Given the description of an element on the screen output the (x, y) to click on. 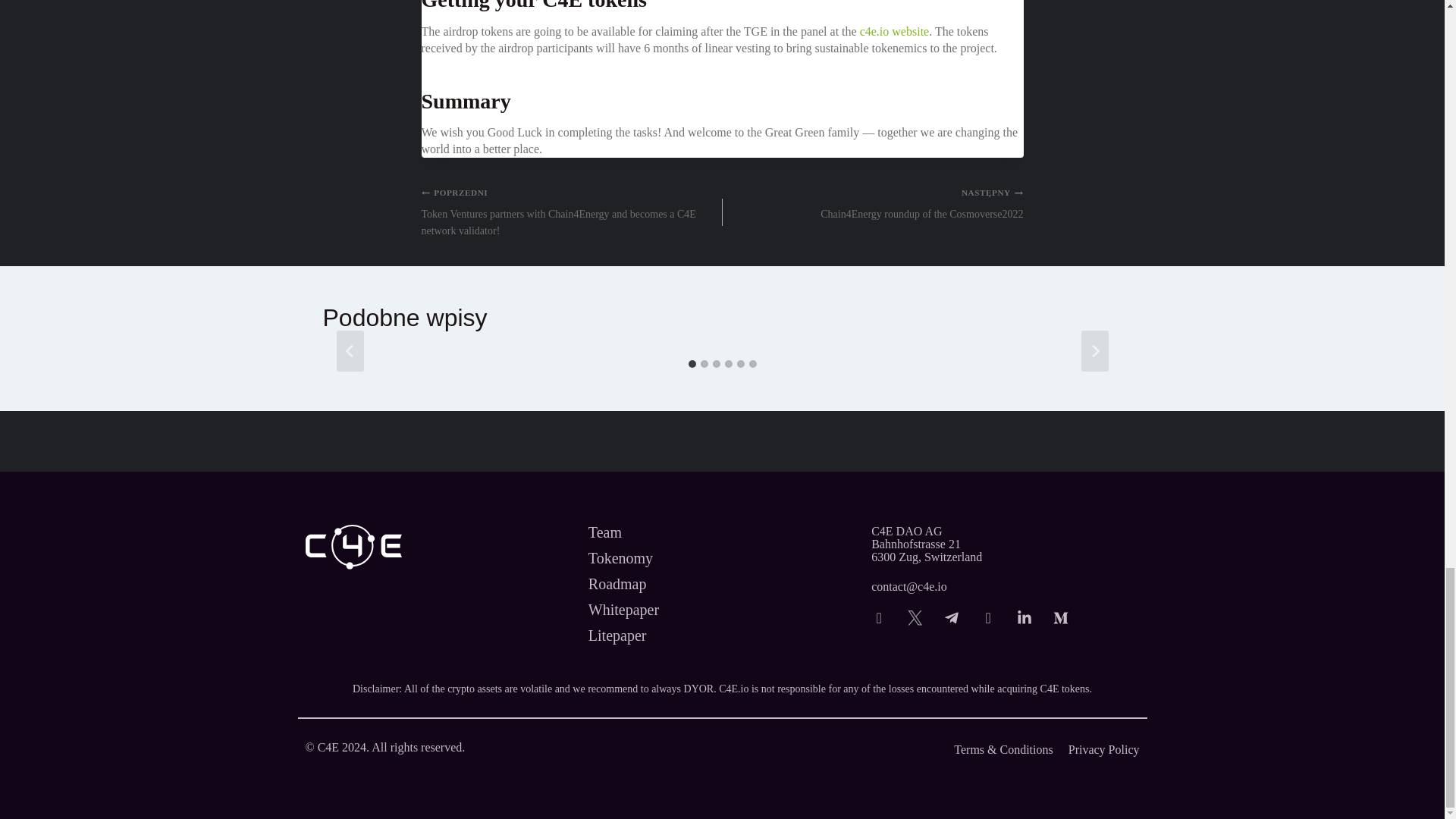
c4e.io website (1004, 543)
